Given the description of an element on the screen output the (x, y) to click on. 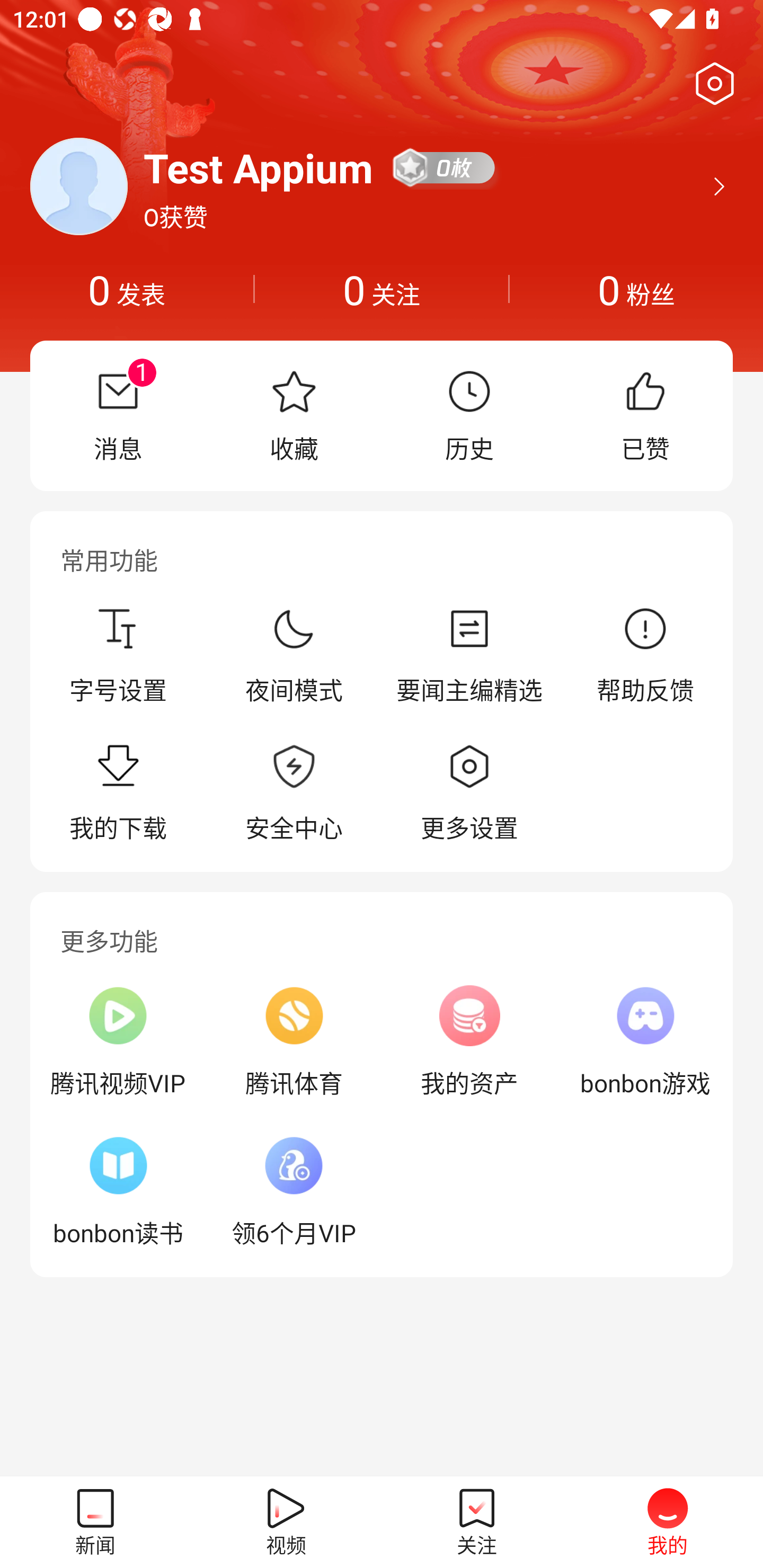
设置，可点击 (711, 83)
头像，可点击 (78, 186)
用户：Test Appium，可点击 (258, 167)
0枚勋章，可点击 (444, 167)
0发表，可点击 (126, 288)
0关注，可点击 (381, 288)
0粉丝，可点击 (636, 288)
消息，可点击 (118, 415)
收藏，可点击 (293, 415)
历史，可点击 (469, 415)
已赞，可点击 (644, 415)
字号设置，可点击 (118, 655)
夜间模式，可点击 (293, 655)
要闻主编精选，可点击 (469, 655)
帮助反馈，可点击 (644, 655)
我的下载，可点击 (118, 793)
安全中心，可点击 (293, 793)
更多设置，可点击 (469, 793)
腾讯视频VIP，可点击 (118, 1041)
腾讯体育，可点击 (293, 1041)
我的资产，可点击 (469, 1041)
bonbon游戏，可点击 (644, 1041)
bonbon读书，可点击 (118, 1191)
领6个月VIP，可点击 (293, 1191)
